Given the description of an element on the screen output the (x, y) to click on. 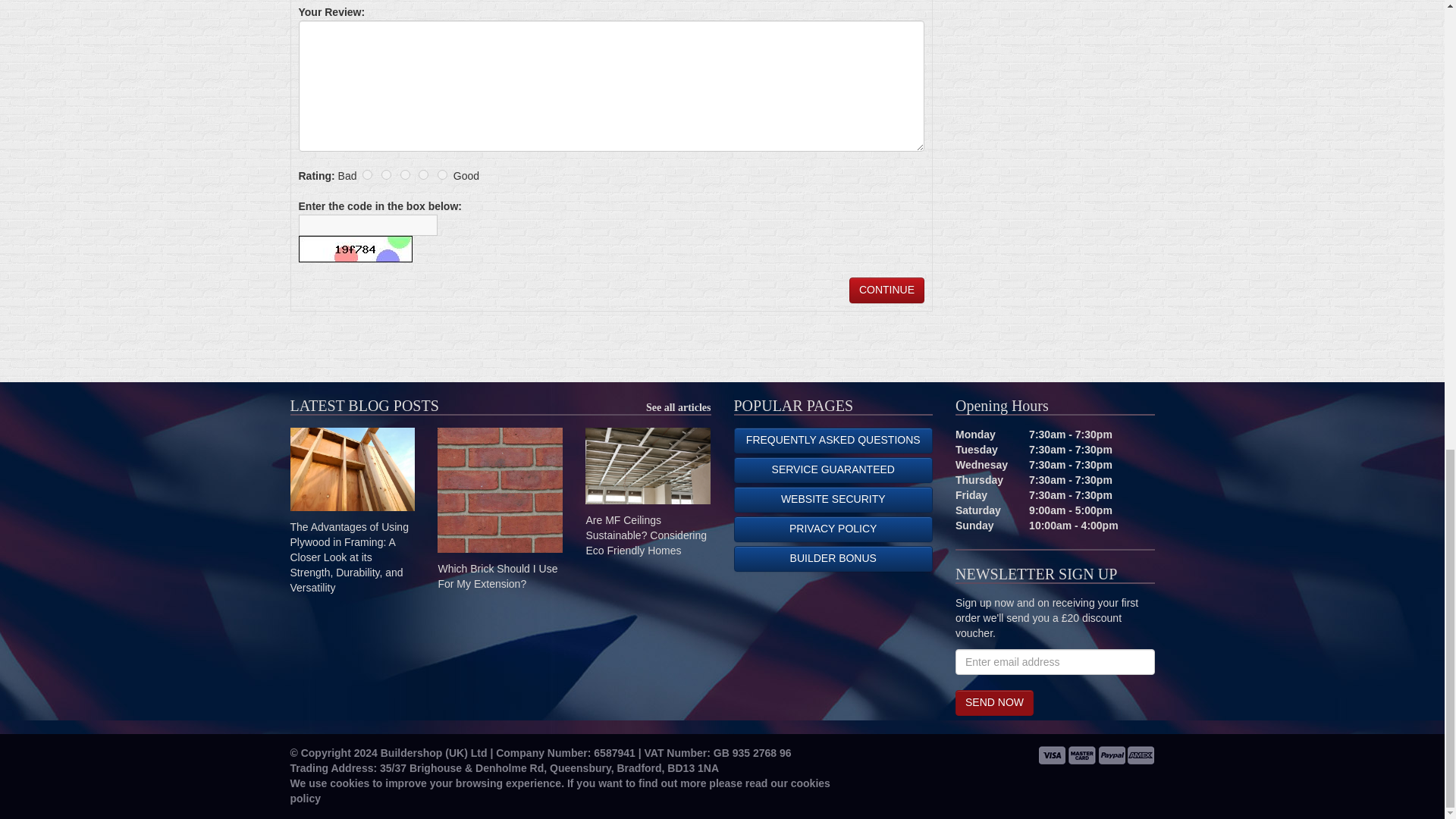
4 (423, 174)
5 (442, 174)
3 (405, 174)
1 (367, 174)
2 (386, 174)
